Given the description of an element on the screen output the (x, y) to click on. 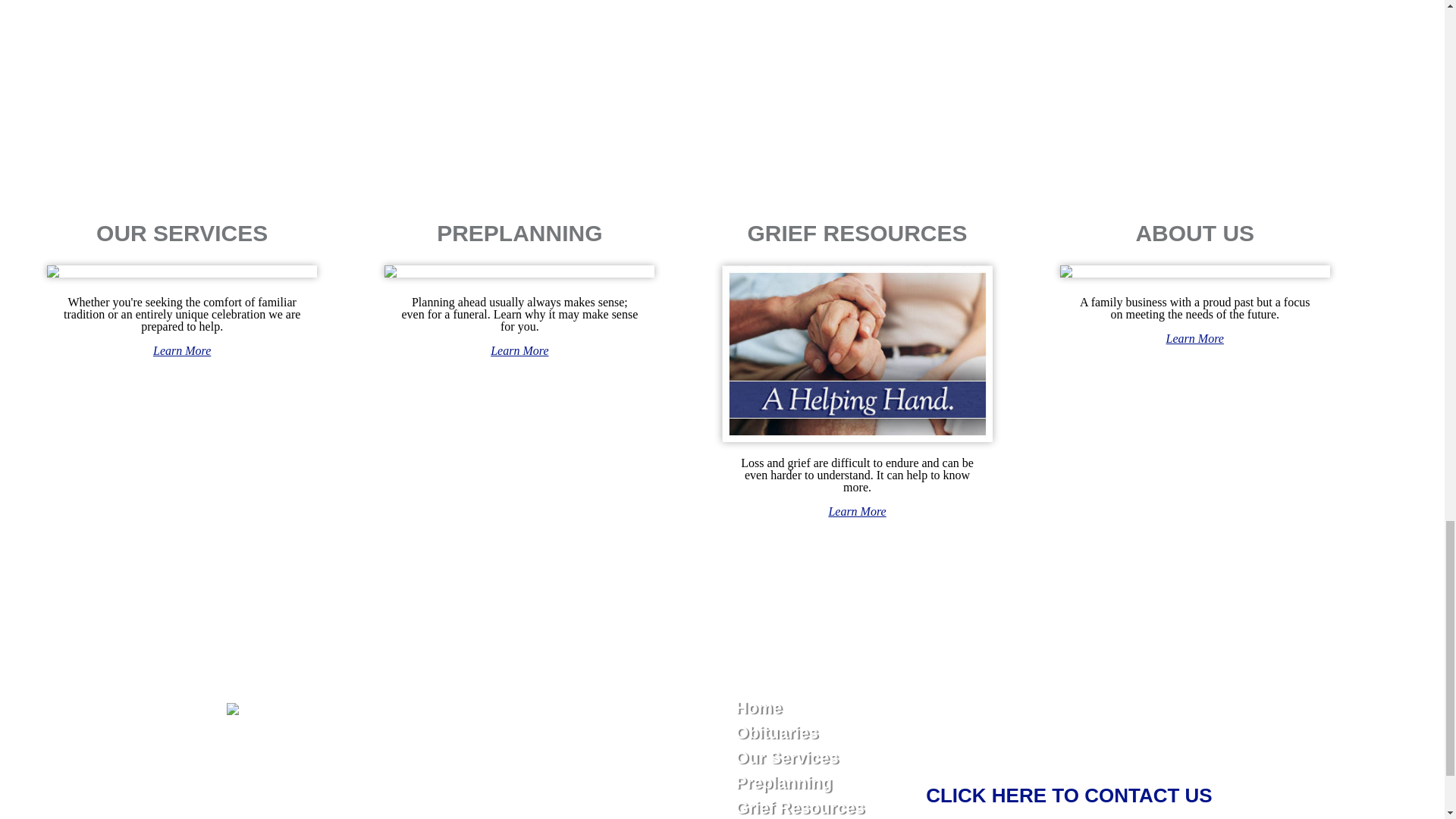
What Is Preplanning? (518, 350)
About Us (1194, 338)
The Grief Experience (856, 511)
Our Services (181, 350)
